Given the description of an element on the screen output the (x, y) to click on. 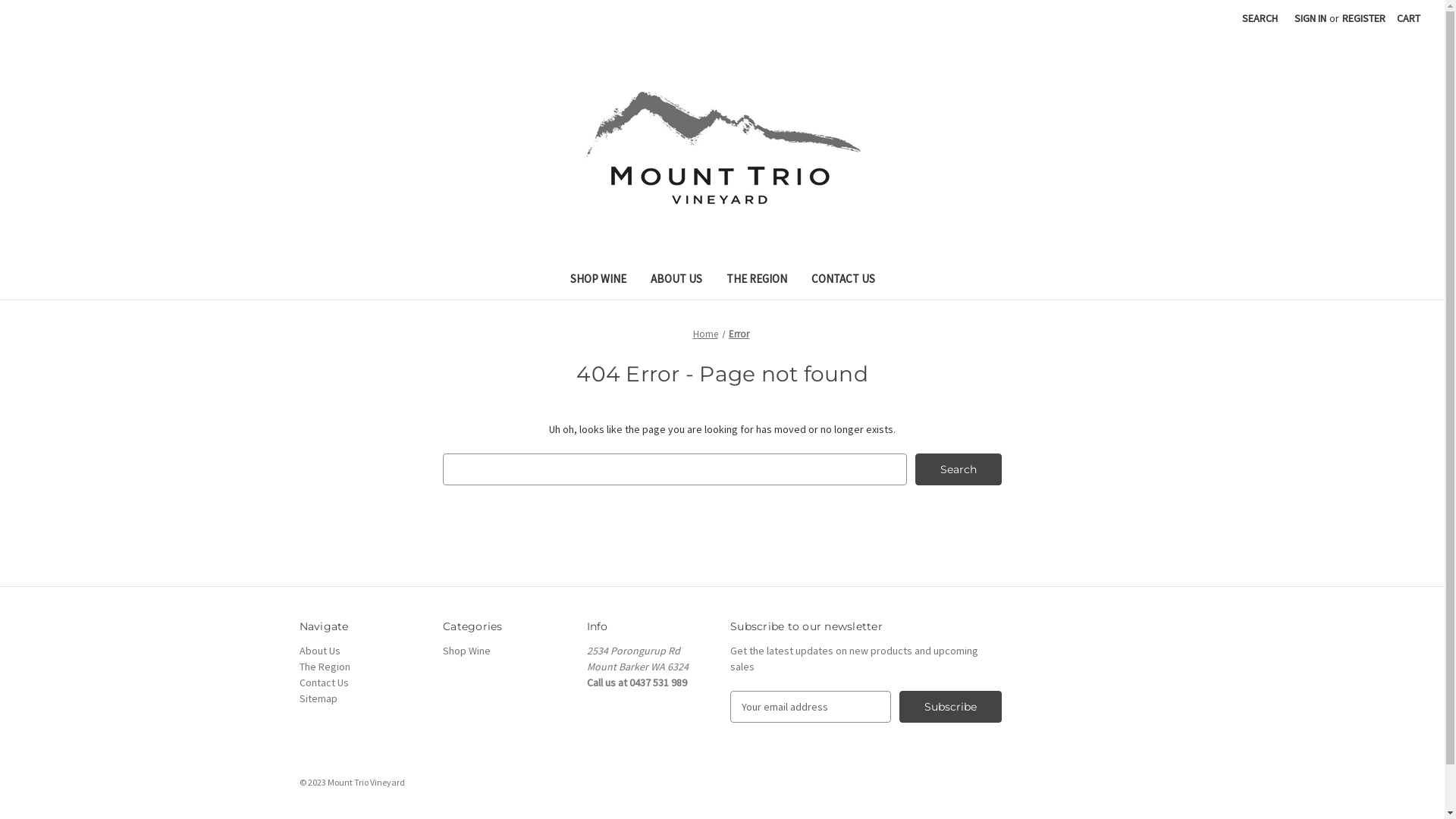
SIGN IN Element type: text (1310, 18)
Shop Wine Element type: text (466, 650)
The Region Element type: text (323, 666)
Home Element type: text (705, 333)
Subscribe Element type: text (950, 706)
Mount Trio Vineyard Element type: hover (722, 146)
REGISTER Element type: text (1363, 18)
Error Element type: text (738, 333)
SEARCH Element type: text (1259, 18)
Contact Us Element type: text (323, 682)
Search Element type: text (958, 469)
SHOP WINE Element type: text (598, 280)
ABOUT US Element type: text (676, 280)
CONTACT US Element type: text (843, 280)
About Us Element type: text (318, 650)
CART Element type: text (1408, 18)
THE REGION Element type: text (756, 280)
Sitemap Element type: text (317, 698)
